Given the description of an element on the screen output the (x, y) to click on. 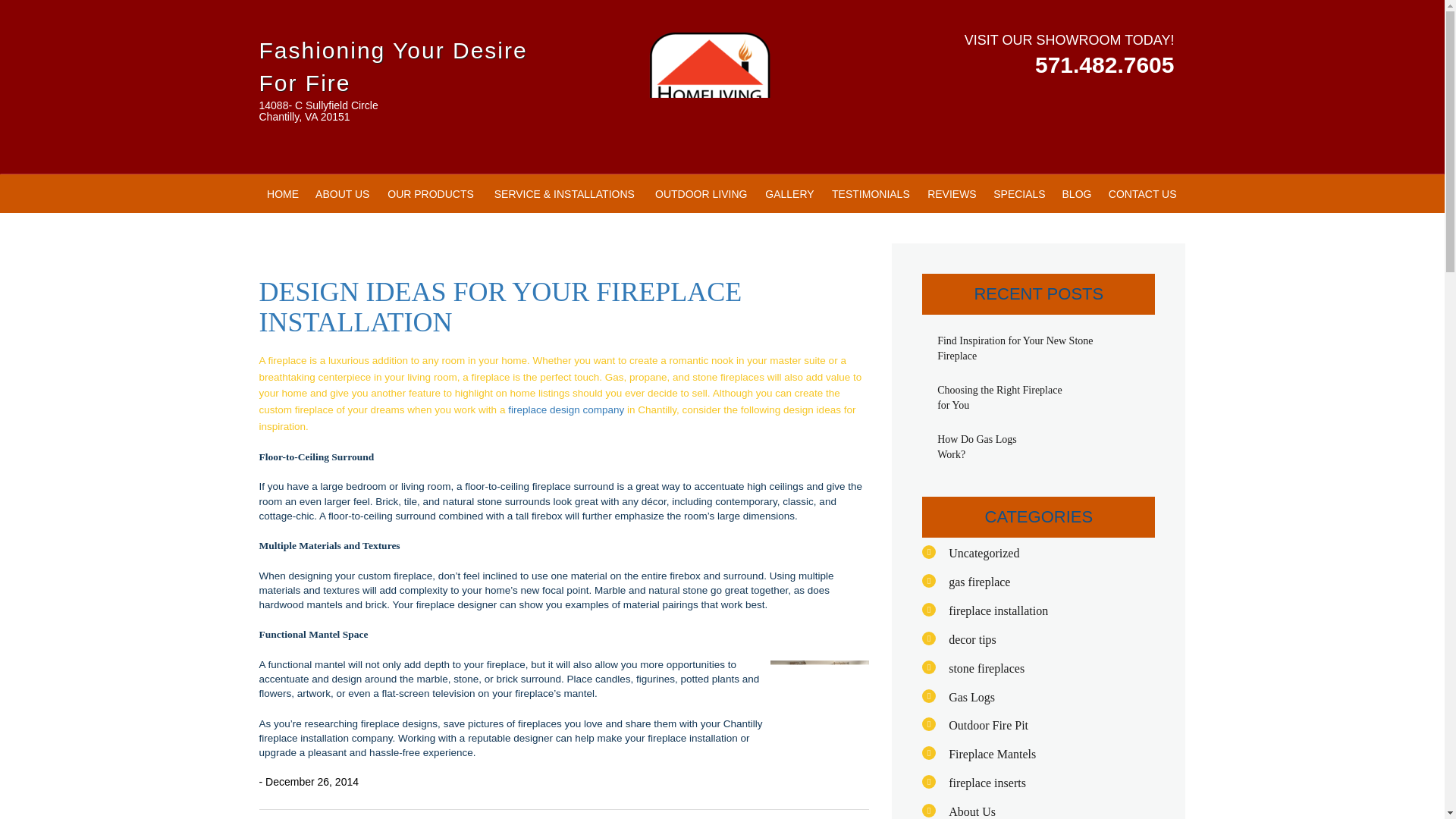
HOME (283, 193)
OUTDOOR LIVING (701, 193)
DESIGN IDEAS FOR YOUR FIREPLACE INSTALLATION (500, 306)
OUR PRODUCTS (430, 193)
SPECIALS (1019, 193)
571.482.7605 (1104, 66)
CONTACT US (1142, 193)
fireplace design company (567, 409)
GALLERY (789, 193)
TESTIMONIALS (870, 193)
